Given the description of an element on the screen output the (x, y) to click on. 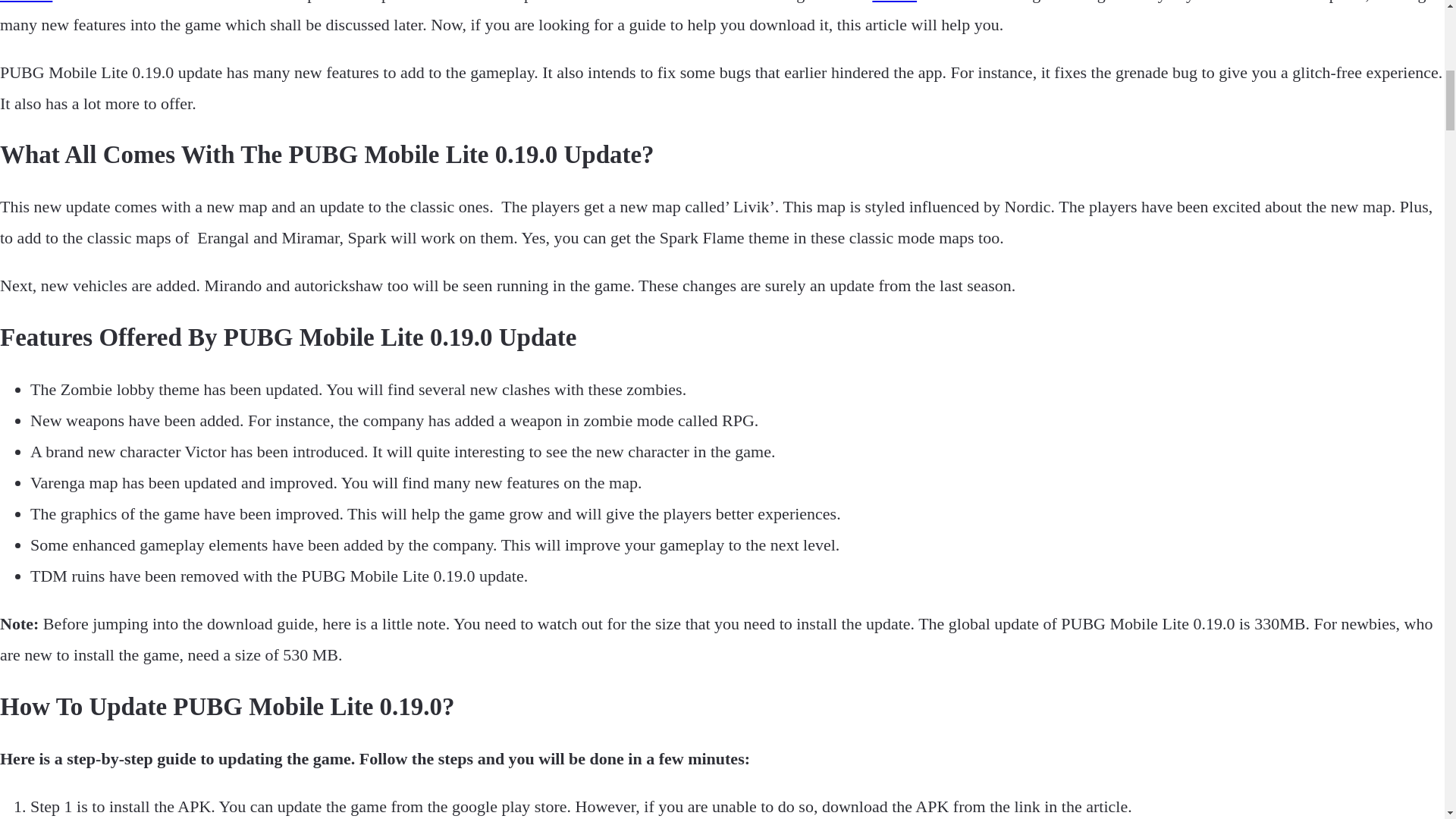
PUBG (894, 1)
Tencent (26, 1)
